Given the description of an element on the screen output the (x, y) to click on. 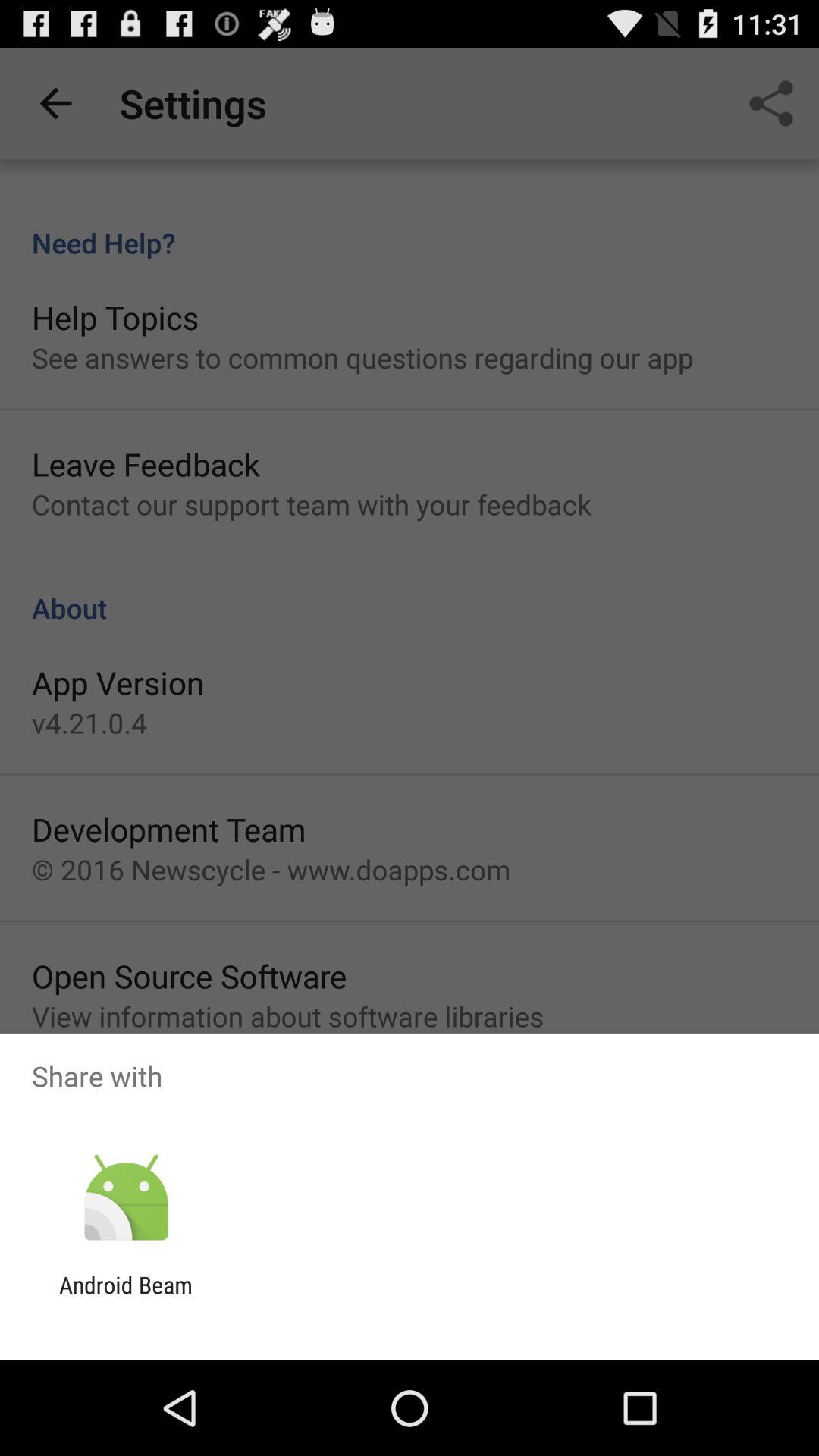
press the android beam item (125, 1298)
